Given the description of an element on the screen output the (x, y) to click on. 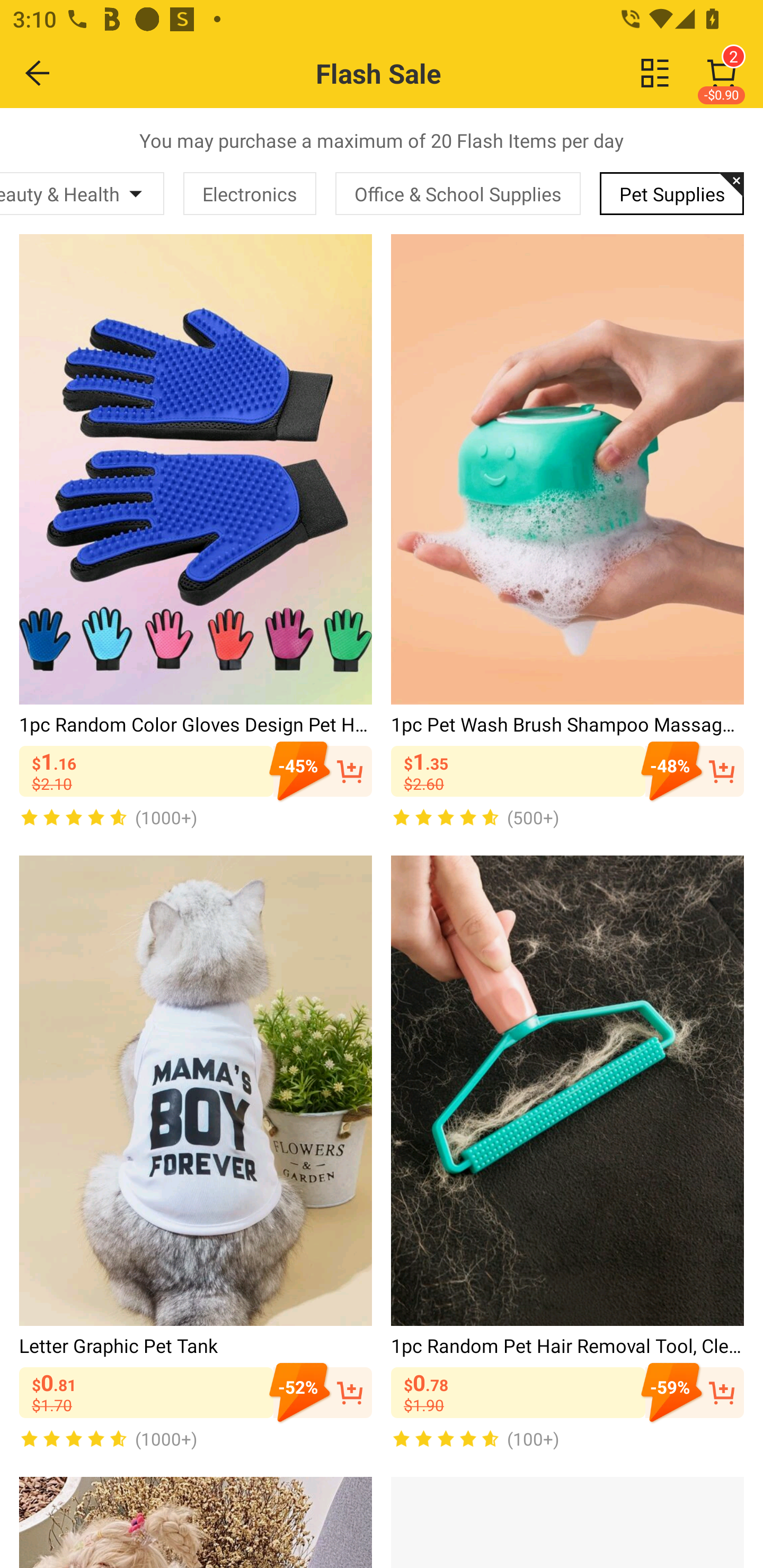
Flash Sale change view 2 -$0.90 (419, 72)
2 -$0.90 (721, 72)
change view (654, 72)
BACK (38, 72)
Electronics (249, 193)
Office & School Supplies (457, 193)
Pet Supplies (671, 193)
